Given the description of an element on the screen output the (x, y) to click on. 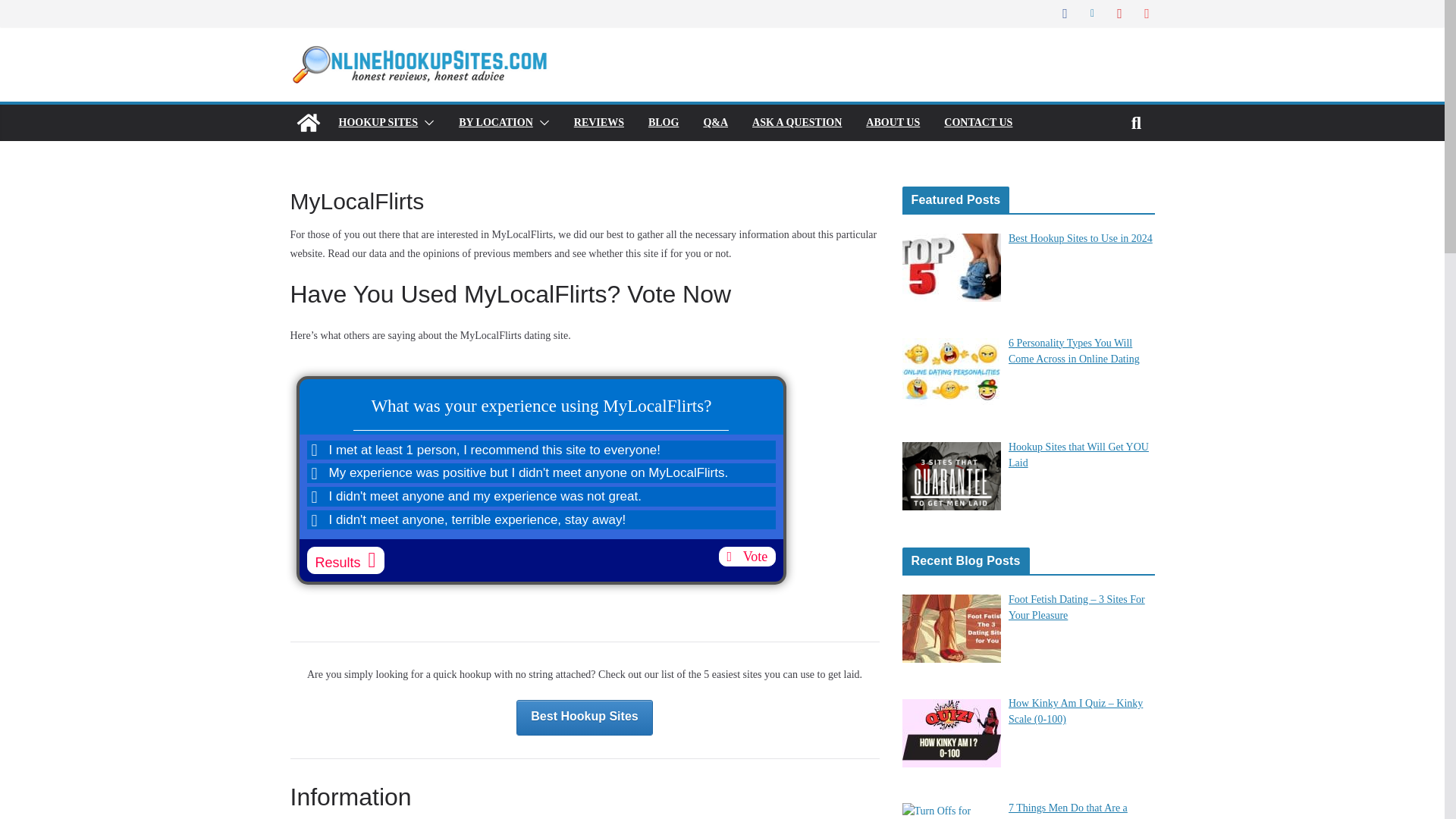
BLOG (662, 122)
Vote (747, 556)
REVIEWS (598, 122)
CONTACT US (977, 122)
Results (344, 560)
Best Hookup Sites (584, 717)
7 Things Men Do that Are a Complete Turn Off (1067, 810)
Best Hookup Sites (584, 717)
Hookup Sites that Will Get YOU Laid (1078, 454)
6 Personality Types You Will Come Across in Online Dating (1074, 349)
